Given the description of an element on the screen output the (x, y) to click on. 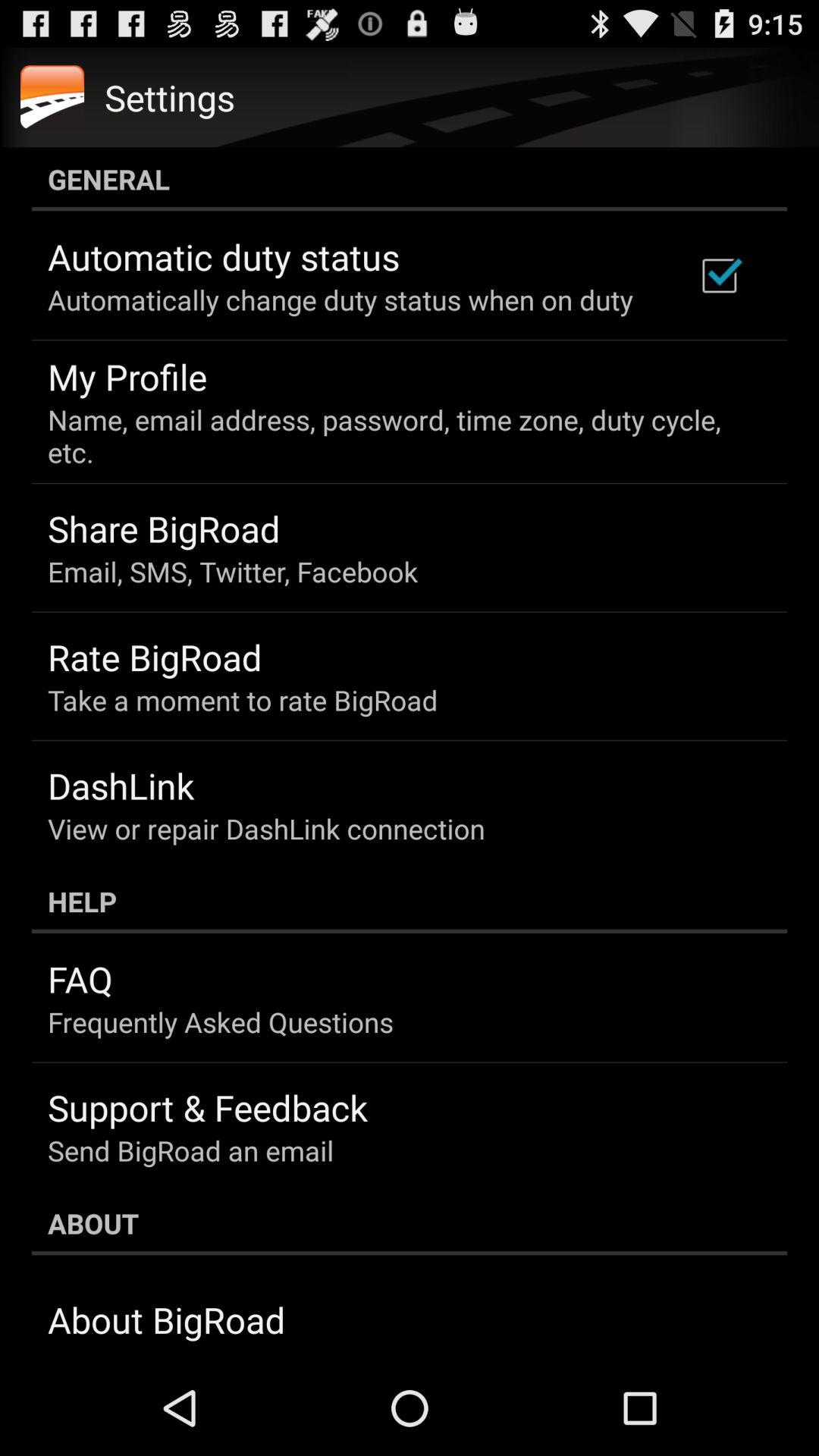
launch the send bigroad an (190, 1150)
